Given the description of an element on the screen output the (x, y) to click on. 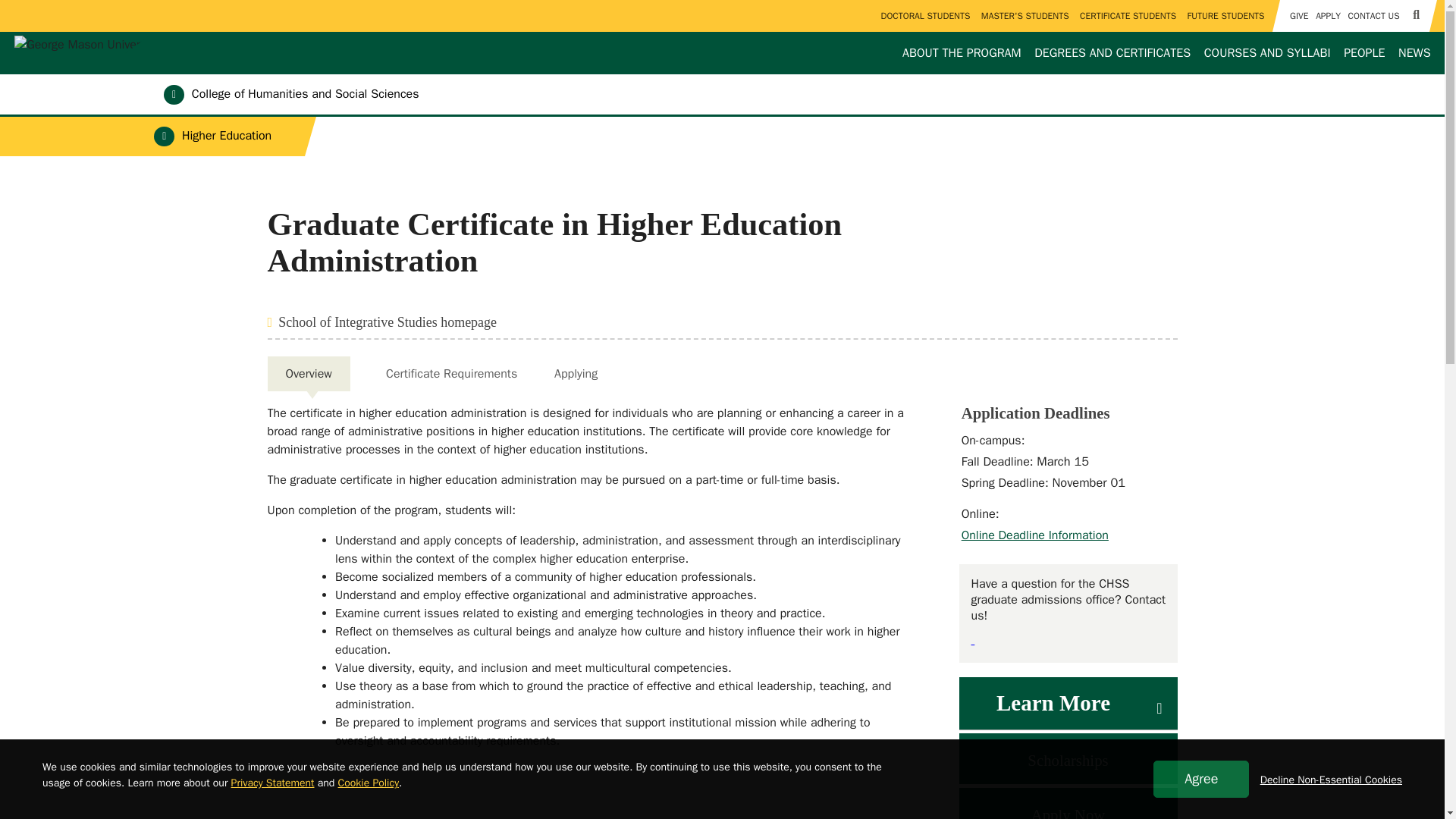
Decline Non-Essential Cookies (1331, 779)
ABOUT THE PROGRAM (962, 52)
George Mason University Privacy Statement (272, 782)
Master's Students (1023, 15)
APPLY (1327, 15)
COURSES AND SYLLABI (1266, 52)
NEWS (1414, 52)
Cookie Policy (367, 782)
Privacy Statement (272, 782)
George Mason University Cookie Policy (367, 782)
